Given the description of an element on the screen output the (x, y) to click on. 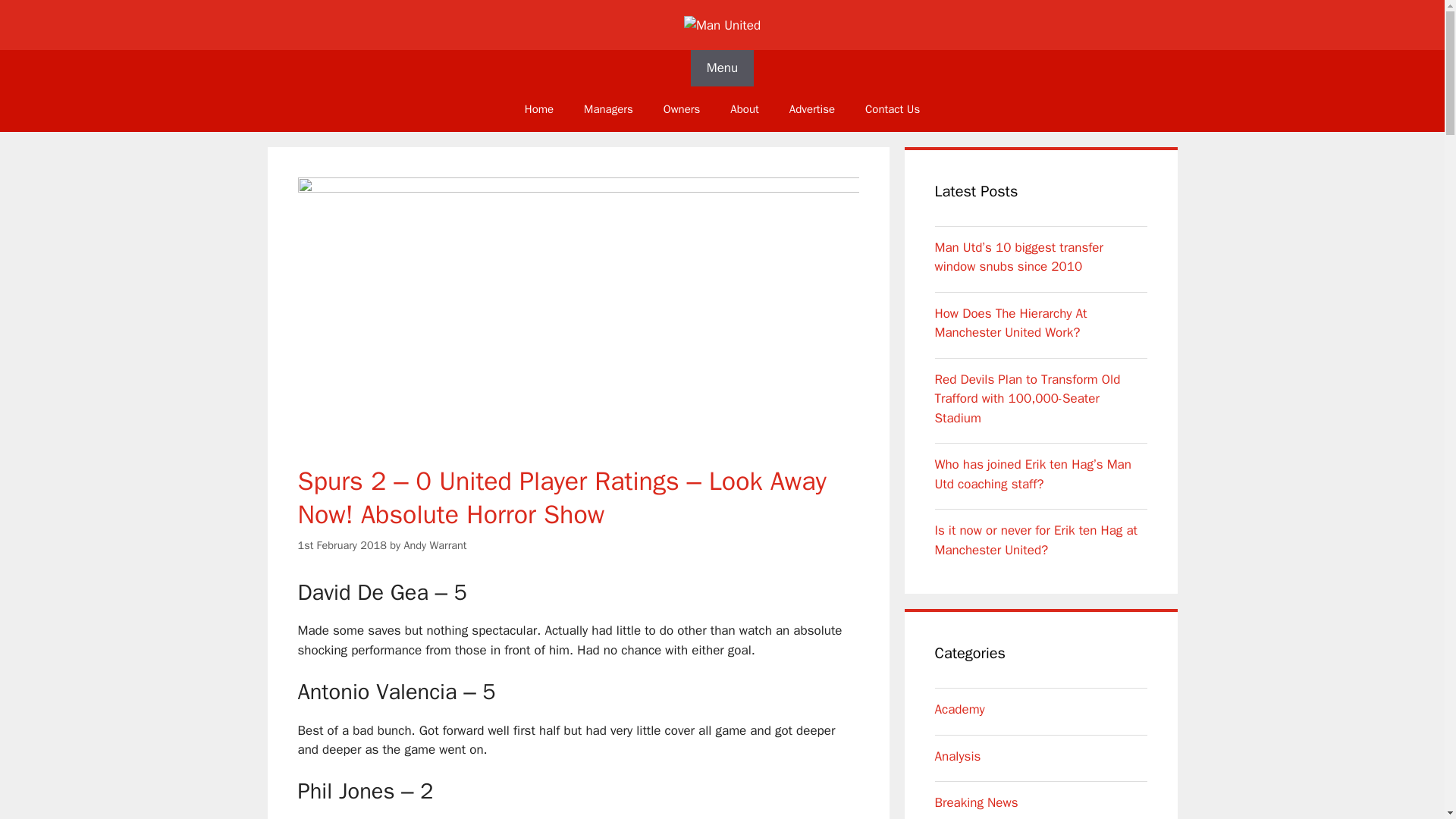
Contact Us (892, 108)
Is it now or never for Erik ten Hag at Manchester United? (1035, 539)
Menu (722, 67)
Analysis (956, 756)
Andy Warrant (434, 545)
Managers (608, 108)
About (743, 108)
View all posts by Andy Warrant (434, 545)
Advertise (812, 108)
About (743, 108)
